Given the description of an element on the screen output the (x, y) to click on. 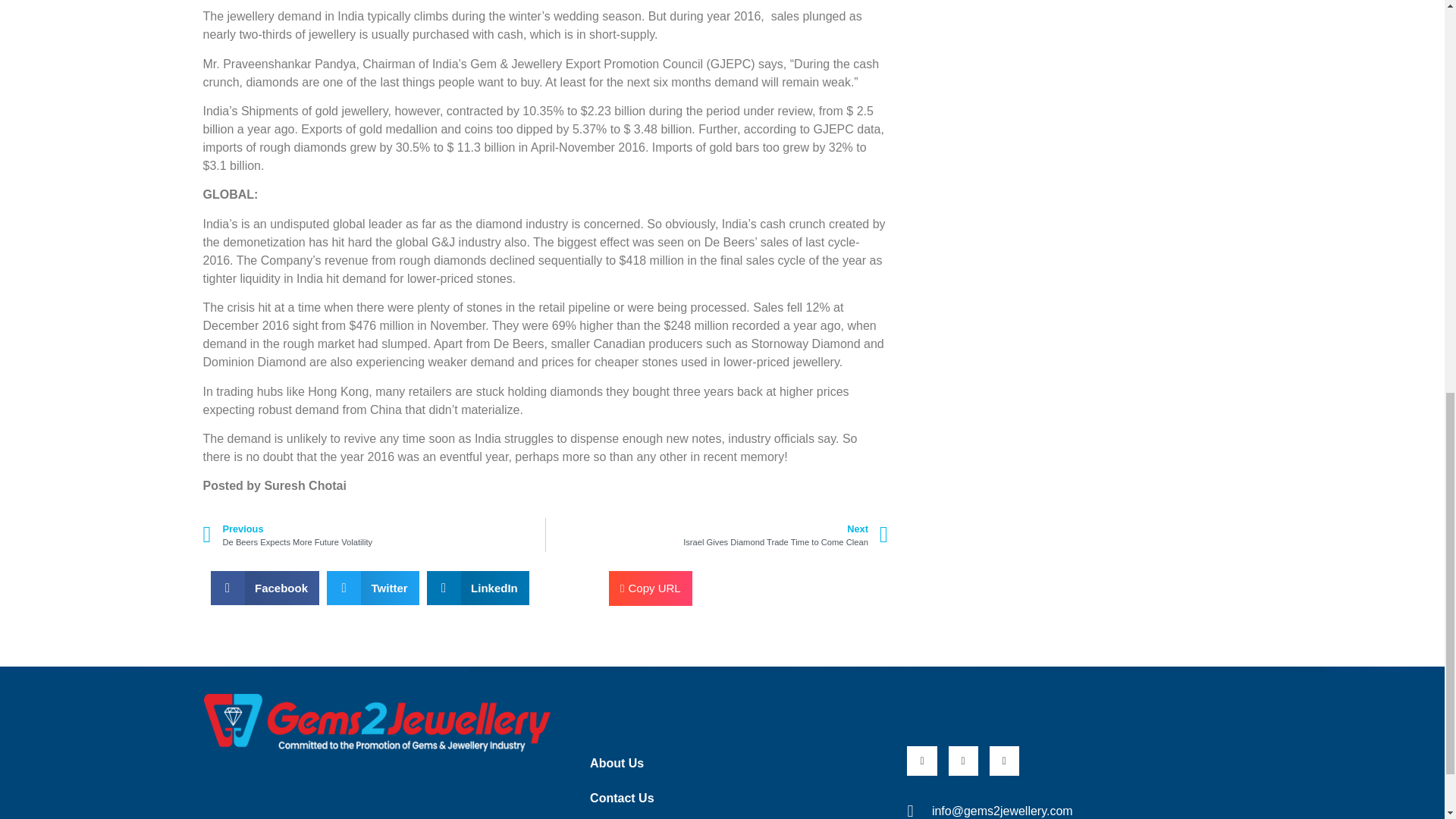
Contact Us (373, 534)
About Us (717, 534)
Copy URL (728, 798)
